Given the description of an element on the screen output the (x, y) to click on. 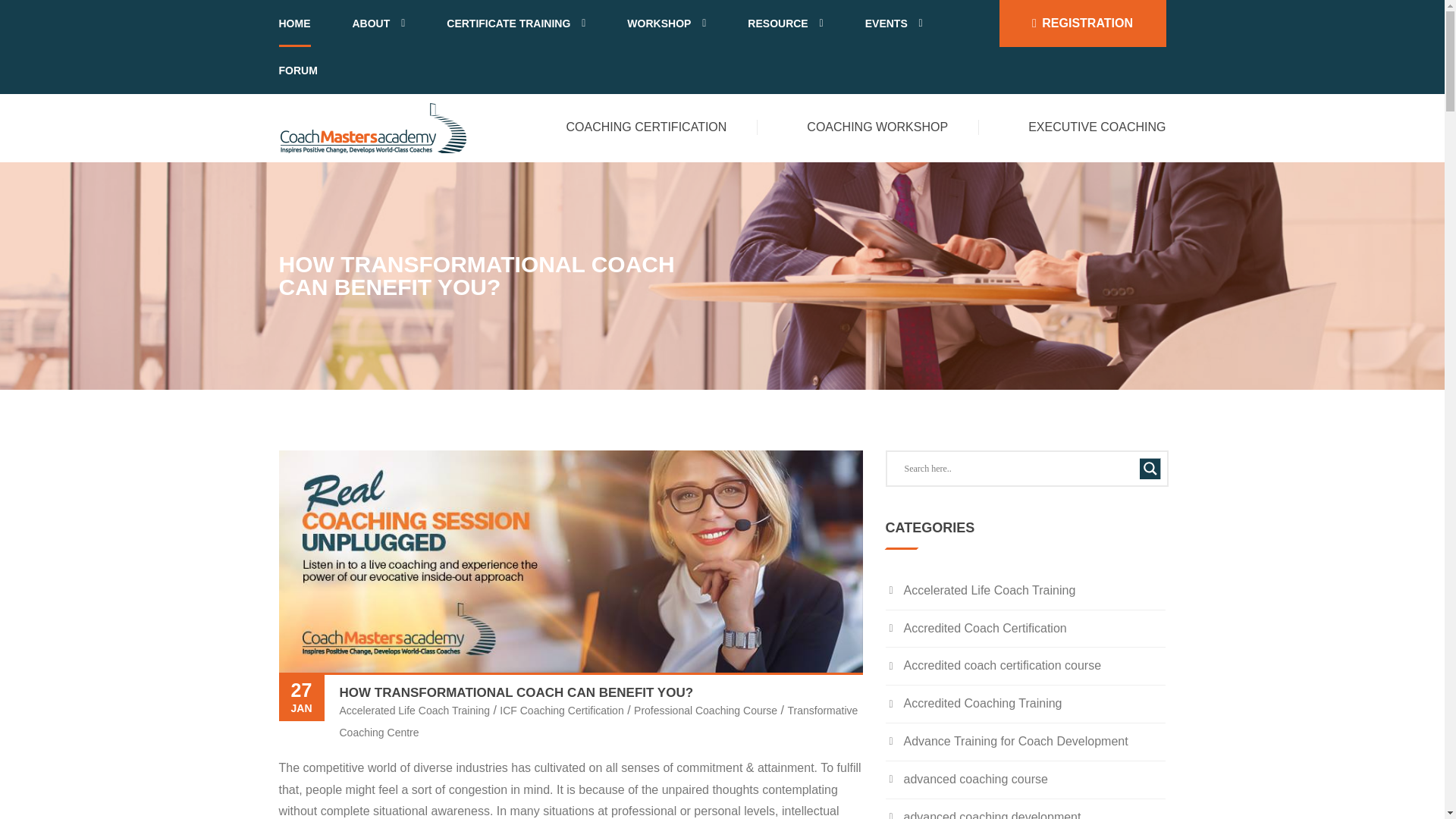
ICF Coaching Certification (561, 710)
RESOURCE (785, 23)
Accelerated Life Coach Training (414, 710)
ABOUT (378, 23)
Transformative Coaching Centre (599, 721)
CERTIFICATE TRAINING (515, 23)
REGISTRATION (1082, 23)
WORKSHOP (666, 23)
EVENTS (893, 23)
EXECUTIVE COACHING (1096, 126)
